Given the description of an element on the screen output the (x, y) to click on. 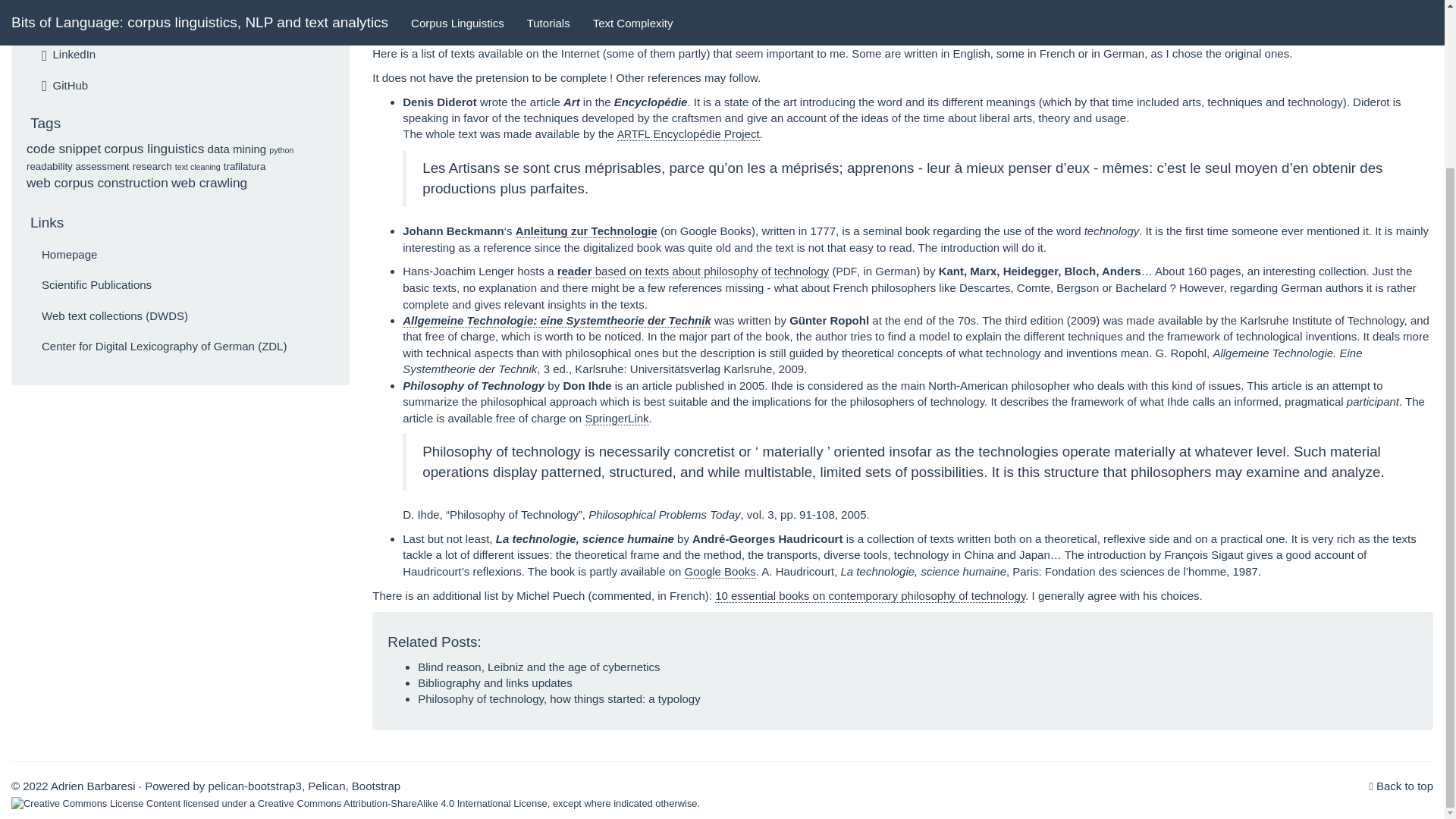
Bibliography and links updates (494, 682)
Scientific Publications (96, 284)
readability assessment (77, 165)
Pelican (326, 785)
python (281, 149)
Homepage (69, 254)
web crawling (209, 182)
Allgemeine Technologie: eine Systemtheorie der Technik (557, 320)
Anleitung zur Technologie (586, 231)
Blind reason, Leibniz and the age of cybernetics (538, 666)
web corpus construction (97, 182)
pelican-bootstrap3 (254, 785)
10 essential books on contemporary philosophy of technology (869, 595)
Twitter (63, 23)
corpus linguistics (153, 148)
